Given the description of an element on the screen output the (x, y) to click on. 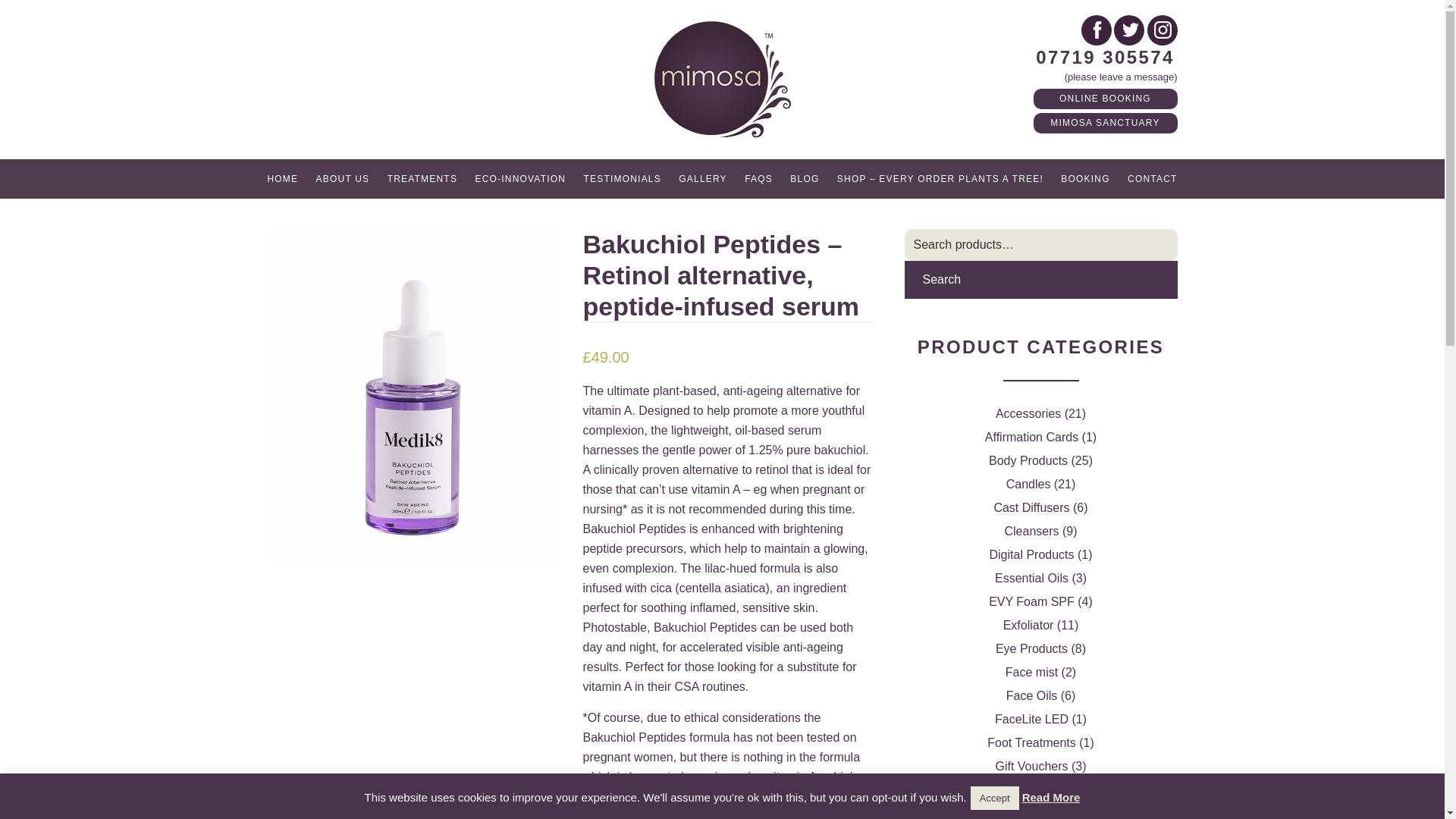
FAQS (758, 178)
Body Products (1027, 460)
ABOUT US (342, 178)
TESTIMONIALS (622, 178)
Search (1040, 279)
Cleansers (1031, 530)
BOOKING (1084, 178)
Cast Diffusers (1030, 507)
BLOG (805, 178)
GALLERY (703, 178)
TREATMENTS (422, 178)
Digital Products (1031, 554)
ONLINE BOOKING (1104, 98)
ECO-INNOVATION (520, 178)
Mimosa Beauty (721, 79)
